Given the description of an element on the screen output the (x, y) to click on. 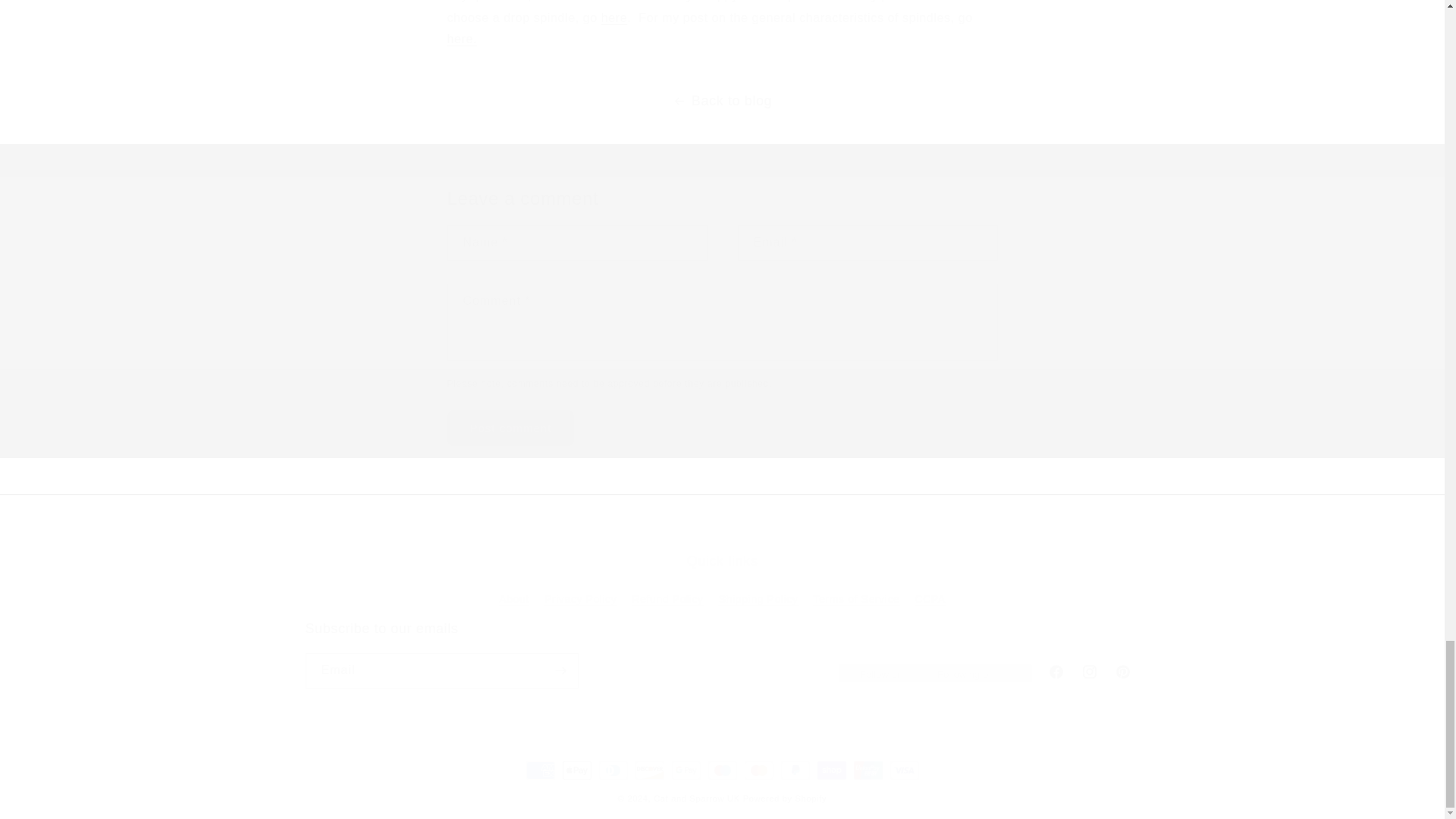
Post comment (721, 653)
Choosing a spindle (510, 427)
Choosing a drop spindle (461, 38)
